Given the description of an element on the screen output the (x, y) to click on. 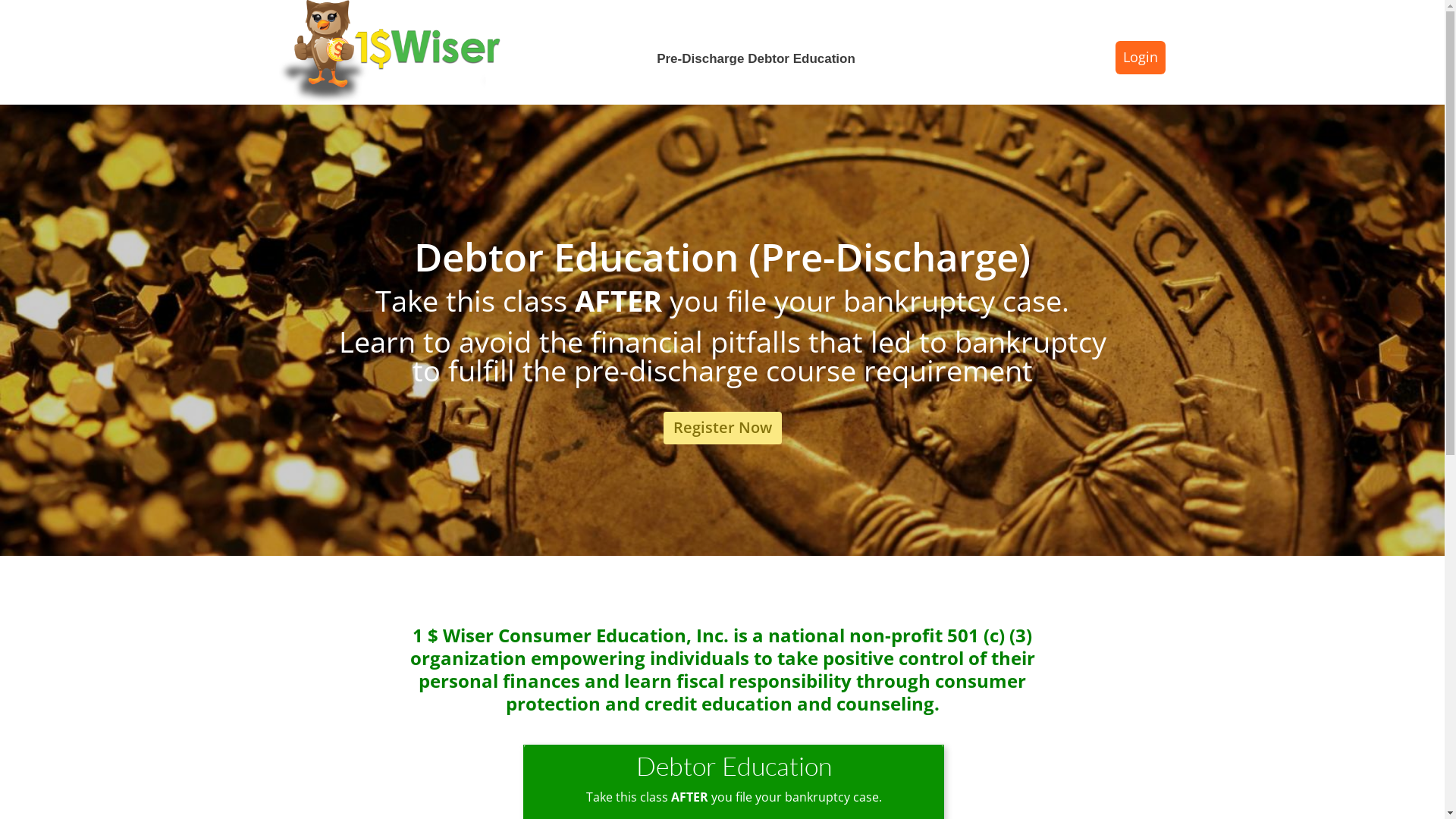
Register Now Element type: text (721, 427)
Pre-Discharge Debtor Education Element type: text (762, 58)
Login Element type: text (1140, 57)
